Given the description of an element on the screen output the (x, y) to click on. 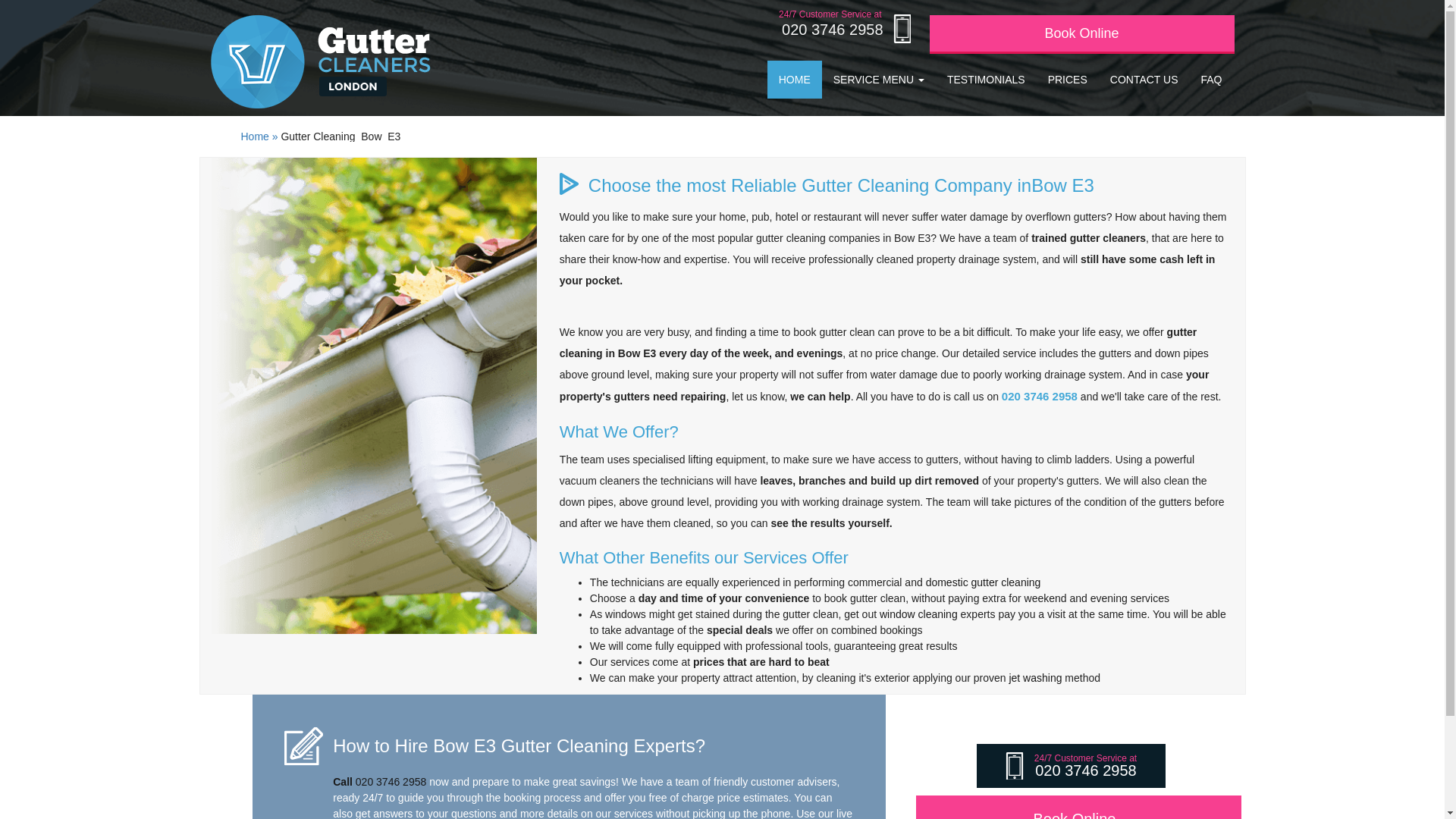
window cleaning (918, 613)
HOME (794, 79)
Contact London Gutter Cleaning Team (1144, 79)
FAQ (1211, 79)
020 3746 2958 (842, 29)
jet washing (1035, 677)
Gutter Cleaning  Bow  E3 (340, 136)
Gutter Cleaning Prices (1067, 79)
Bow Domestic Gutter Cleaners (983, 582)
Gutter Cleaners London (330, 61)
